Given the description of an element on the screen output the (x, y) to click on. 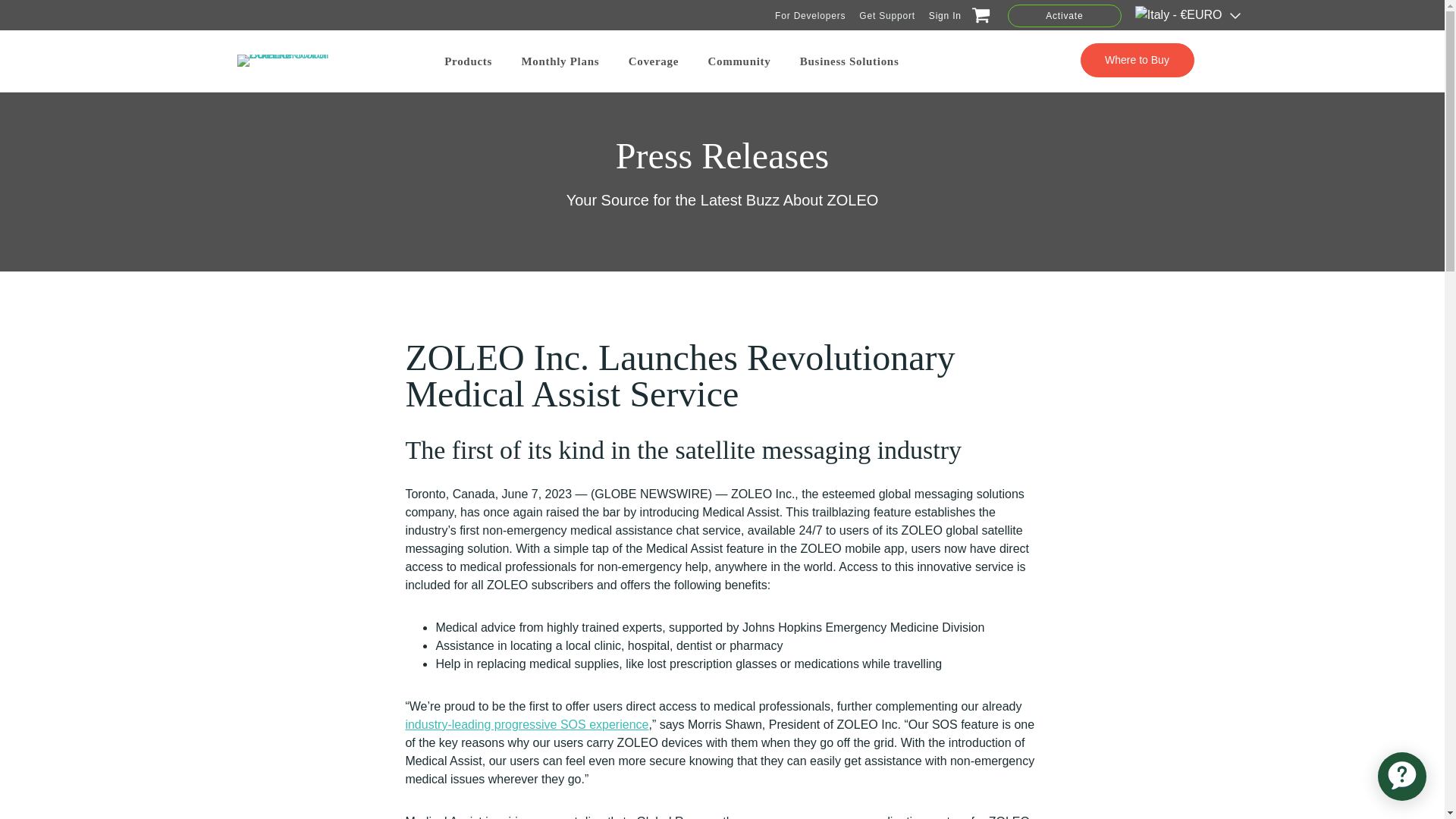
Get Support (887, 15)
Cart (978, 18)
ZOLEO Global Satellite Communicator (292, 60)
For Developers (809, 15)
Activate (1064, 15)
Sign In (944, 15)
